Given the description of an element on the screen output the (x, y) to click on. 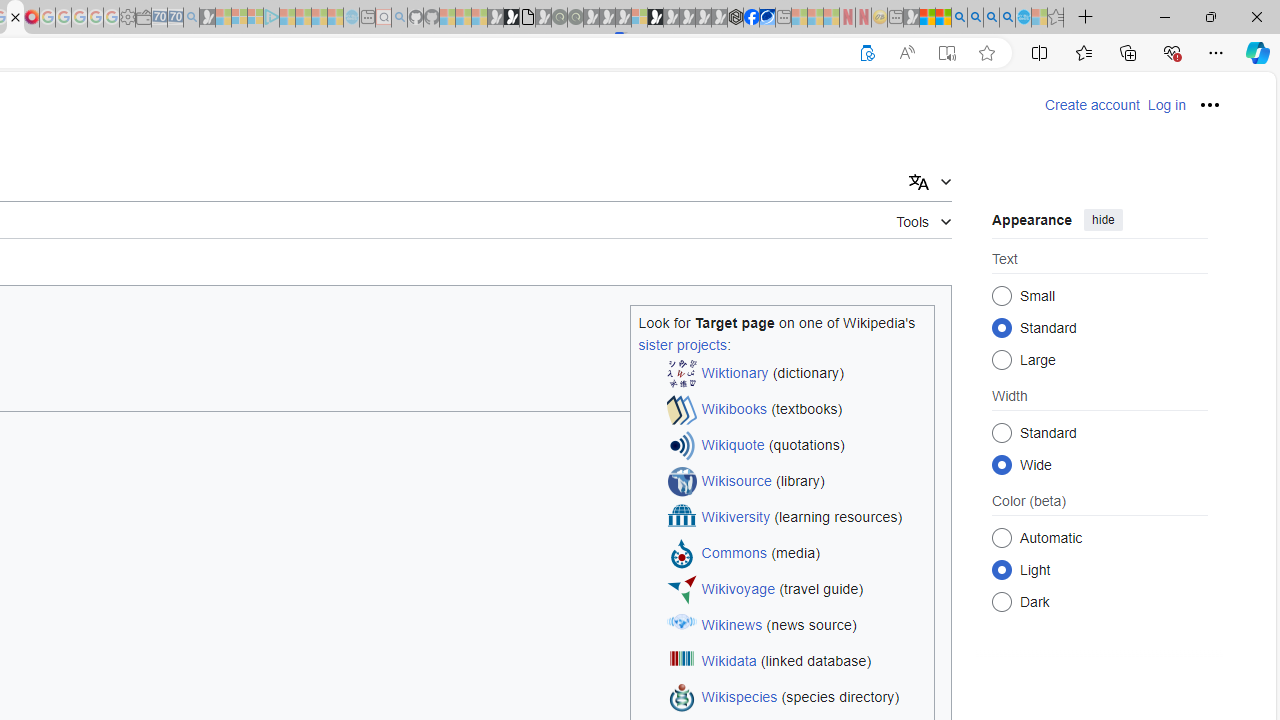
Wikiversity (735, 517)
Class: mw-list-item mw-list-item-js (1100, 569)
Future Focus Report 2024 - Sleeping (575, 17)
Wiktionary (dictionary) (796, 374)
Wikispecies (739, 697)
Wikisource (736, 481)
Create account (1092, 105)
Wikivoyage (738, 589)
